Given the description of an element on the screen output the (x, y) to click on. 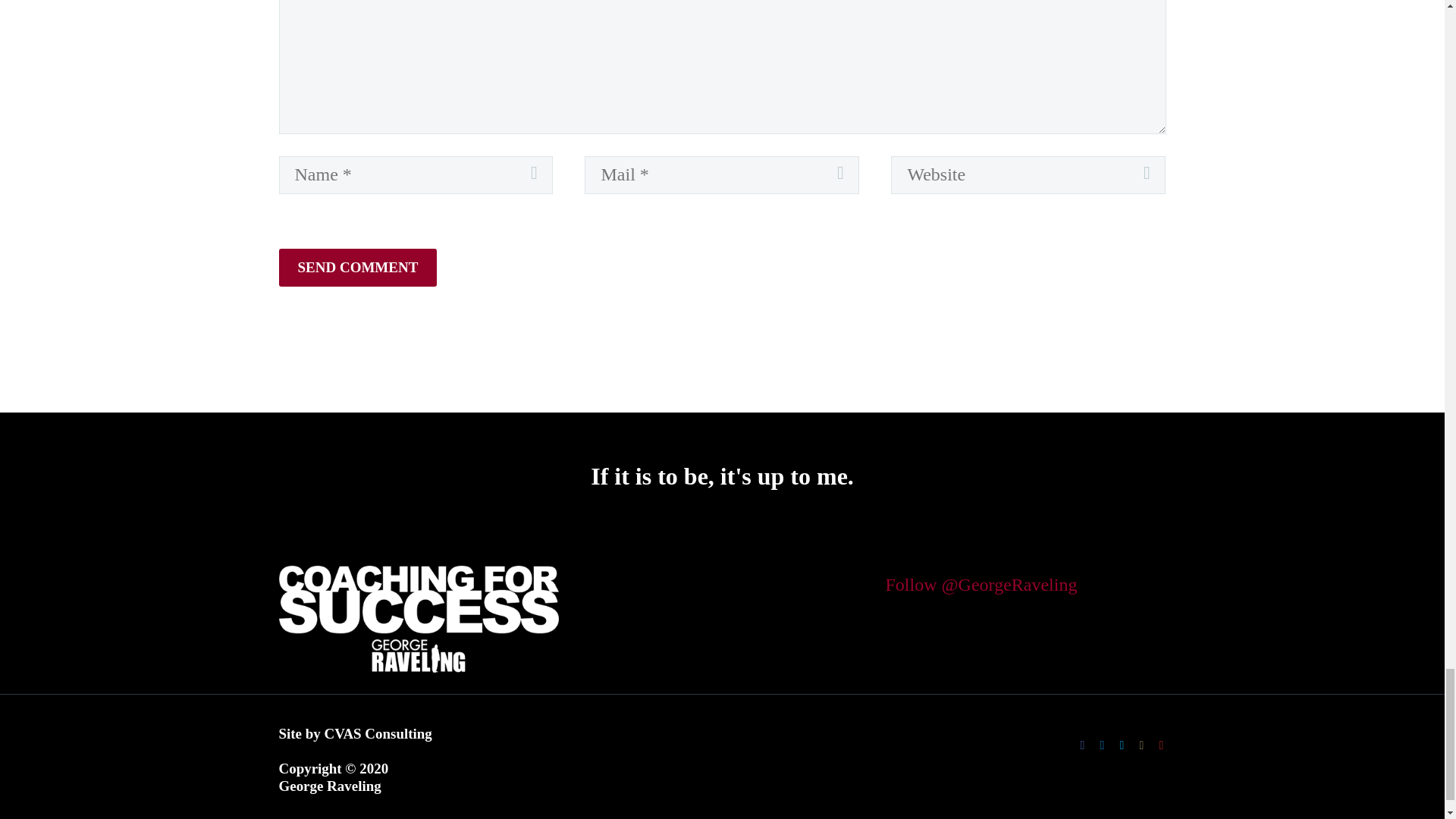
Facebook (1083, 745)
LinkedIn (1102, 745)
Twitter (1122, 745)
